Given the description of an element on the screen output the (x, y) to click on. 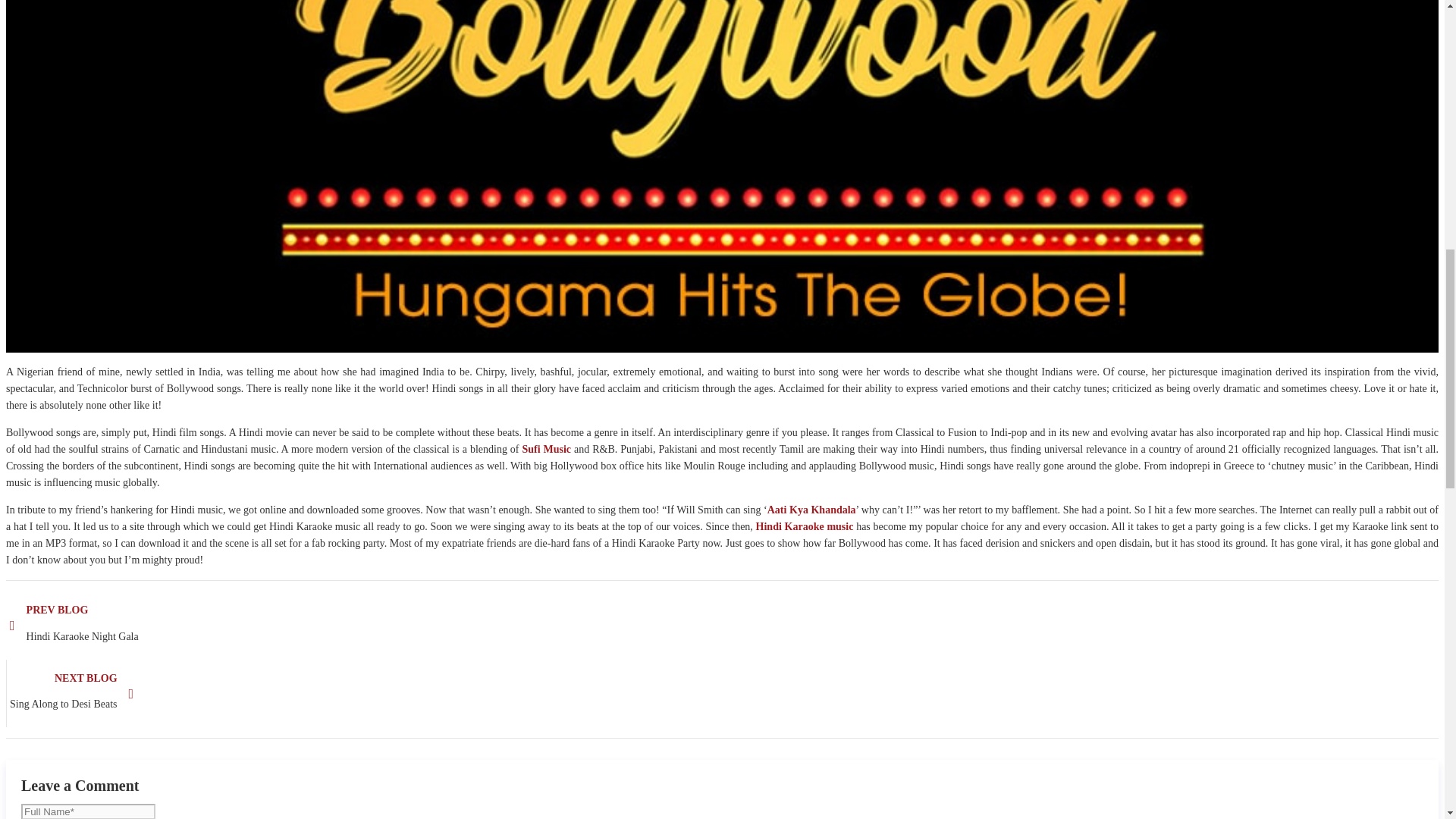
Hindi Karaoke music (804, 526)
Sufi Music (721, 694)
Aati Kya Khandala (545, 449)
